Given the description of an element on the screen output the (x, y) to click on. 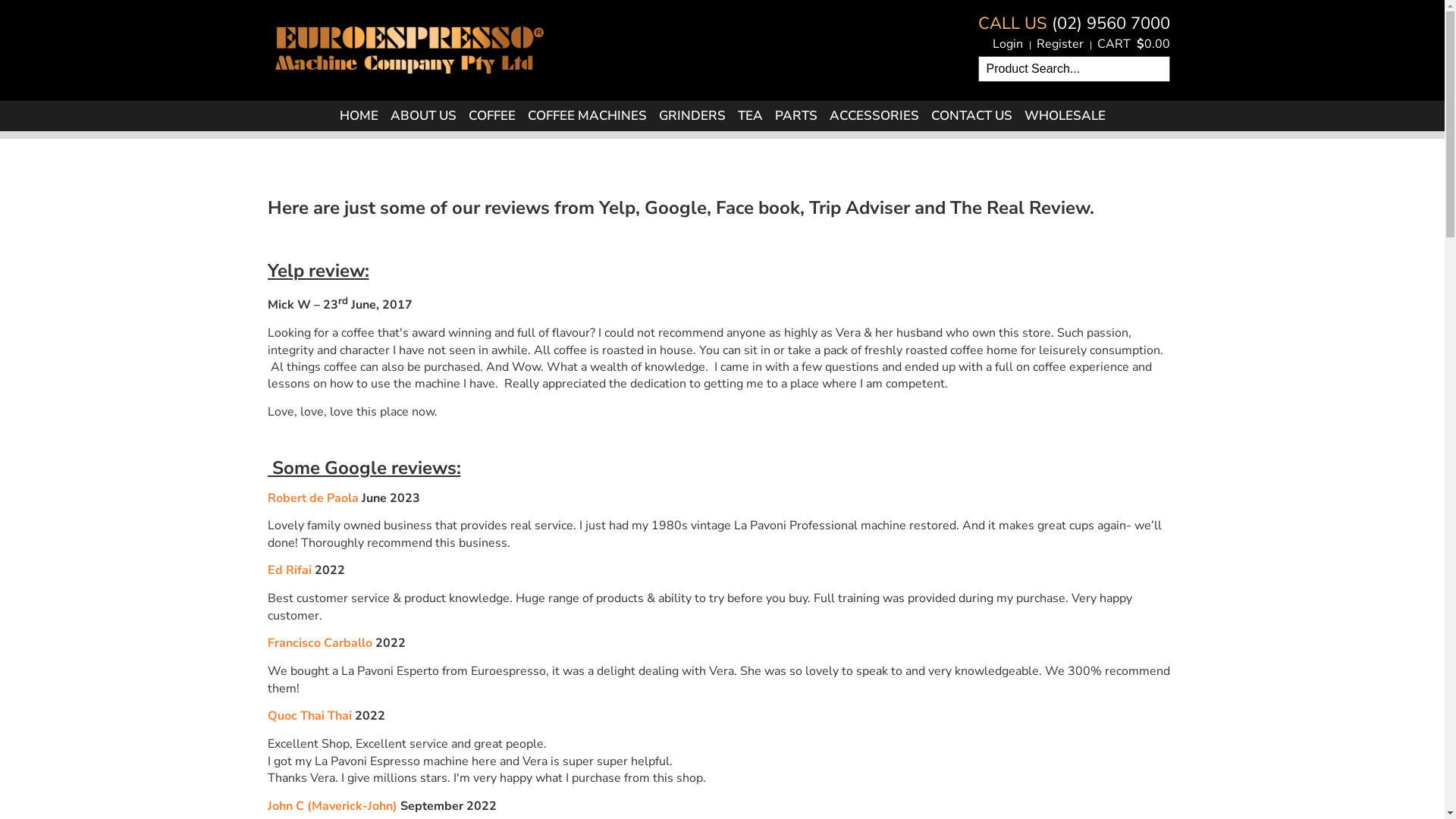
Francisco Carballo Element type: text (318, 642)
GRINDERS Element type: text (691, 115)
John C (Maverick-John) Element type: text (331, 805)
CALL US (02) 9560 7000 Element type: text (1074, 23)
Login Element type: text (1006, 43)
TEA Element type: text (749, 115)
ABOUT US Element type: text (422, 115)
Ed Rifai Element type: text (288, 569)
COFFEE MACHINES Element type: text (587, 115)
Robert de Paola Element type: text (311, 497)
CONTACT US Element type: text (971, 115)
WHOLESALE Element type: text (1064, 115)
HOME Element type: text (358, 115)
PARTS Element type: text (796, 115)
COFFEE Element type: text (492, 115)
CART Element type: text (1112, 43)
ACCESSORIES Element type: text (874, 115)
Euroespresso Element type: hover (408, 46)
Quoc Thai Thai Element type: text (308, 715)
Register Element type: text (1058, 43)
